Given the description of an element on the screen output the (x, y) to click on. 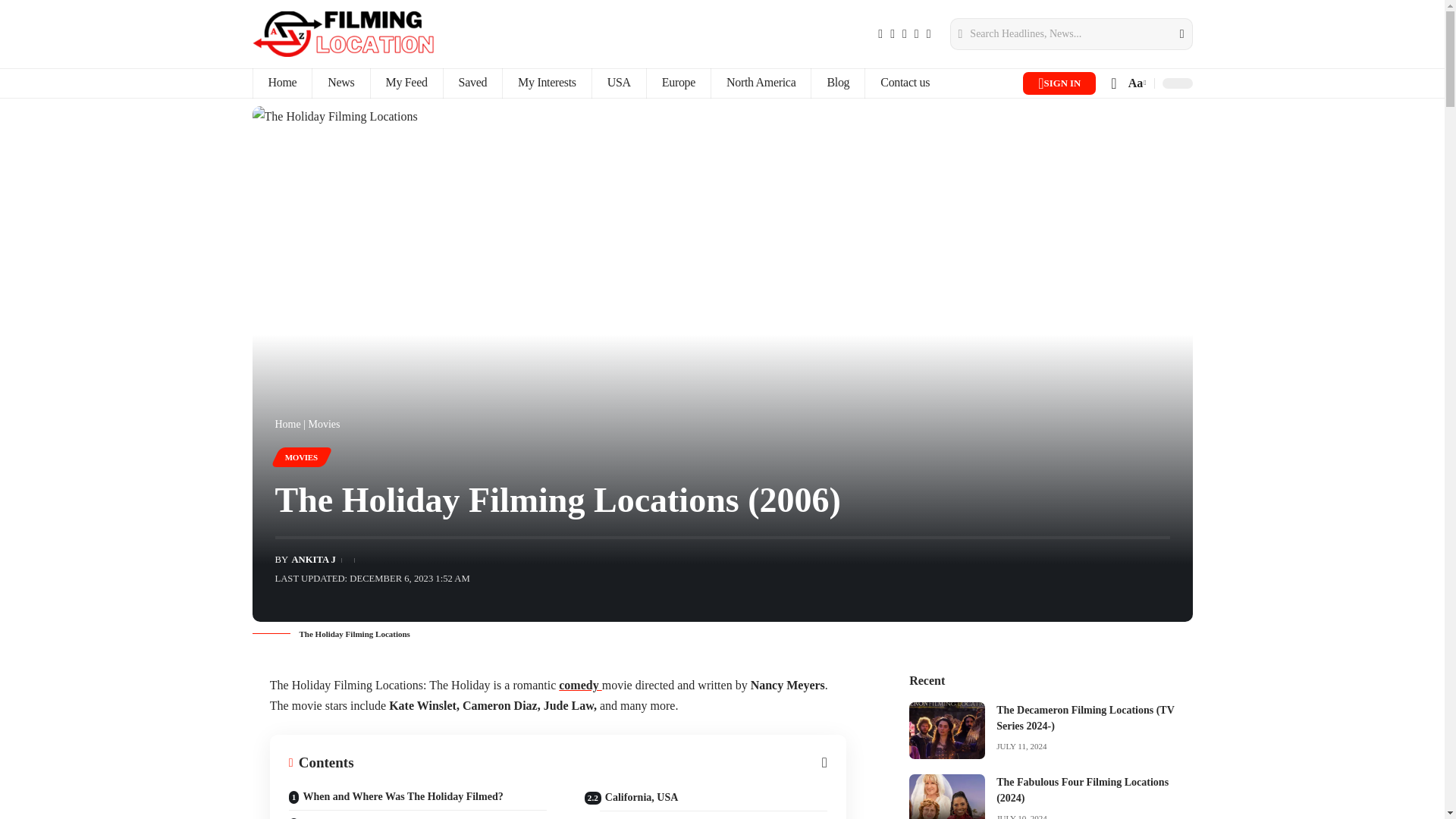
News (340, 82)
My Feed (405, 82)
Saved (472, 82)
Europe (678, 82)
Search (1172, 33)
Aa (1135, 82)
Home (281, 82)
North America (760, 82)
SIGN IN (1059, 83)
A2Z Filming Location (342, 33)
Blog (837, 82)
USA (618, 82)
My Interests (546, 82)
Contact us (904, 82)
